Given the description of an element on the screen output the (x, y) to click on. 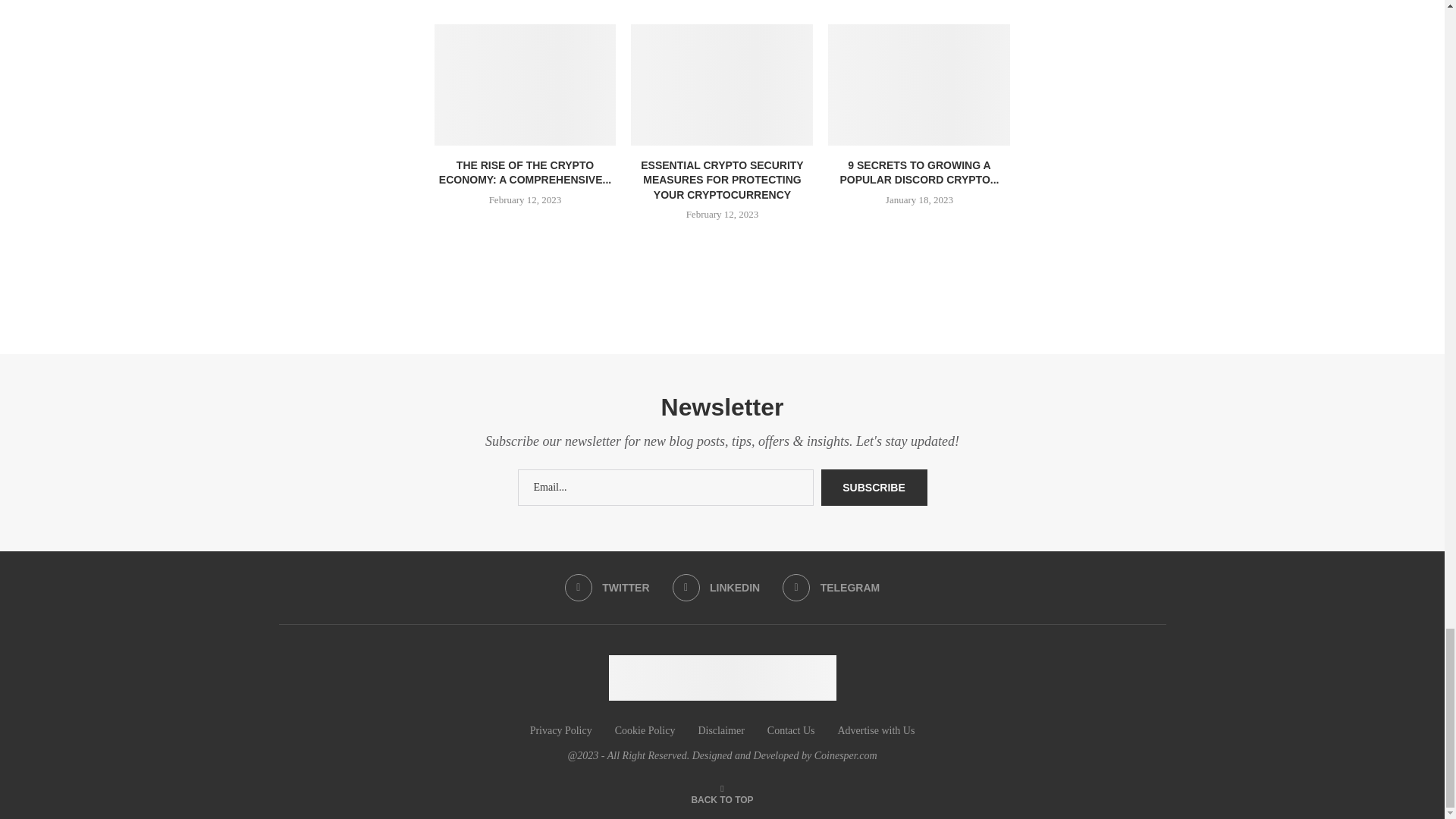
Subscribe (873, 487)
The Rise of the Crypto Economy: A Comprehensive Overview (524, 84)
9 SECRETS TO GROWING A POPULAR DISCORD CRYPTO... (919, 172)
THE RISE OF THE CRYPTO ECONOMY: A COMPREHENSIVE... (525, 172)
9 Secrets to Growing a Popular Discord Crypto Group (919, 84)
